Given the description of an element on the screen output the (x, y) to click on. 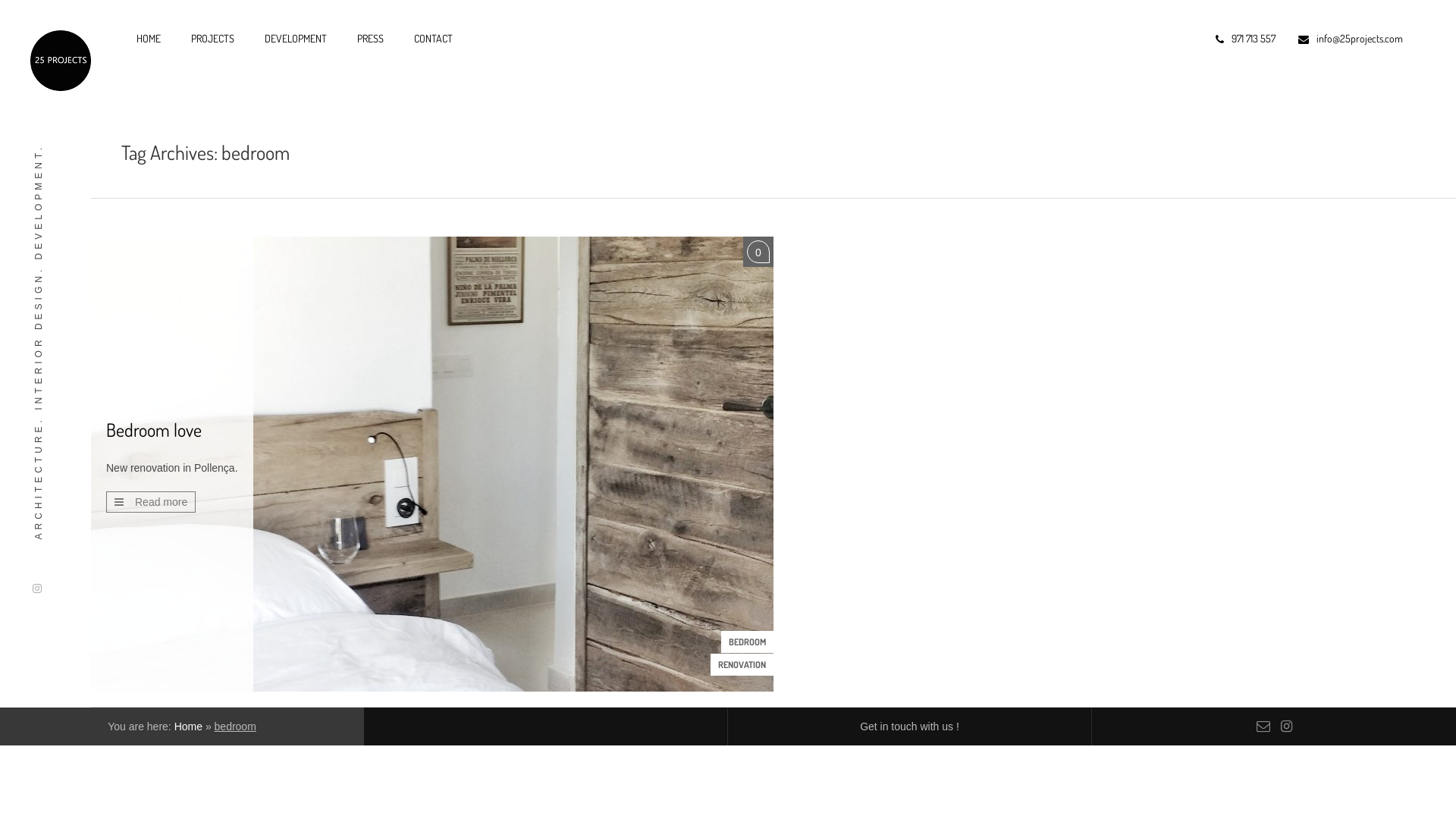
Home Element type: text (188, 726)
HOME Element type: text (148, 38)
PROJECTS Element type: text (212, 38)
RENOVATION Element type: text (741, 664)
0 Element type: text (757, 251)
CONTACT Element type: text (433, 38)
BEDROOM Element type: text (747, 641)
DEVELOPMENT Element type: text (295, 38)
PRESS Element type: text (370, 38)
25 PROJECTS Element type: hover (60, 60)
